Given the description of an element on the screen output the (x, y) to click on. 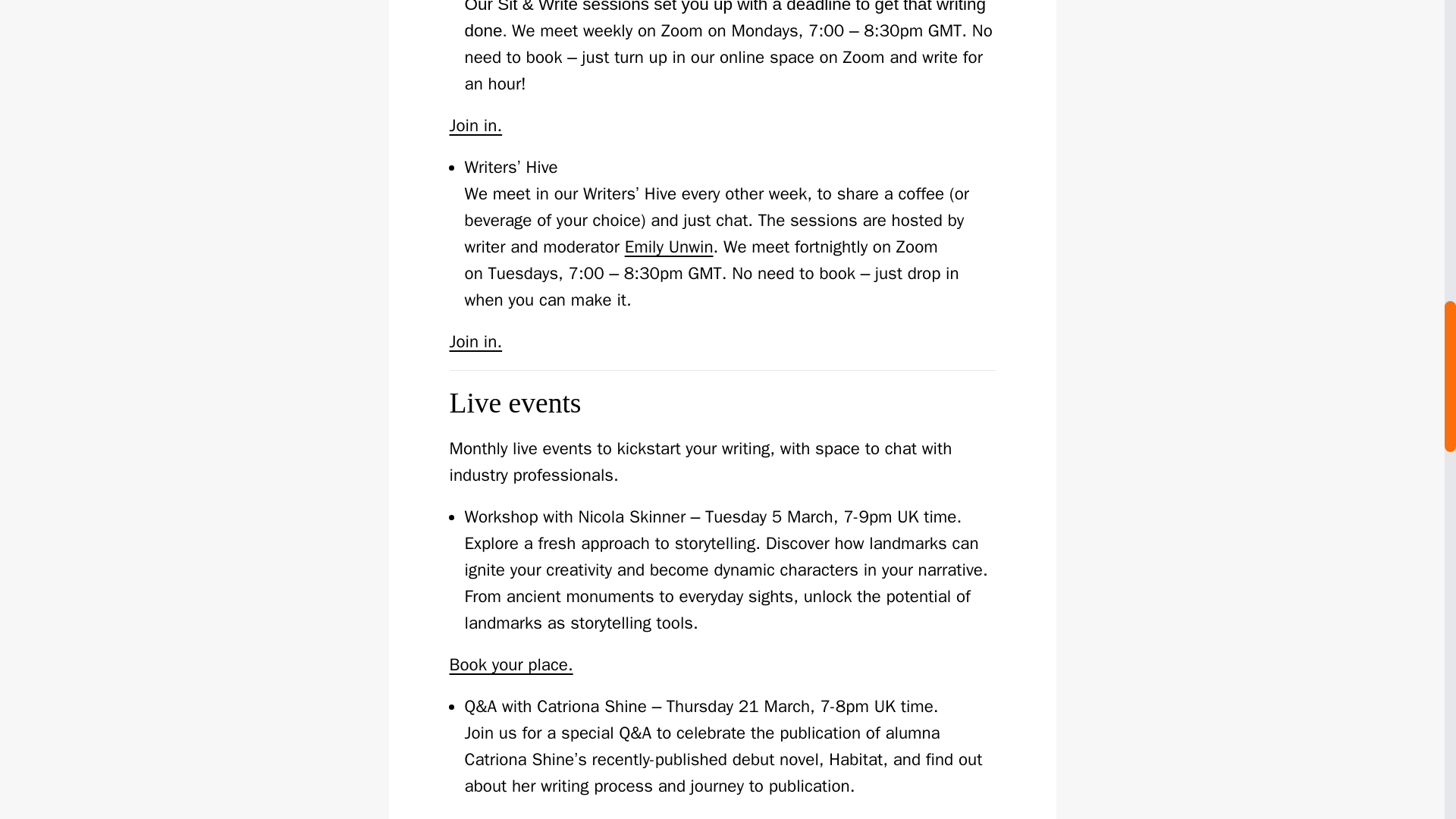
Book your place. (510, 664)
Book your place. (510, 817)
Join in. (475, 341)
Join in. (475, 125)
Emily Unwin (668, 246)
Opens in new window (668, 246)
